Given the description of an element on the screen output the (x, y) to click on. 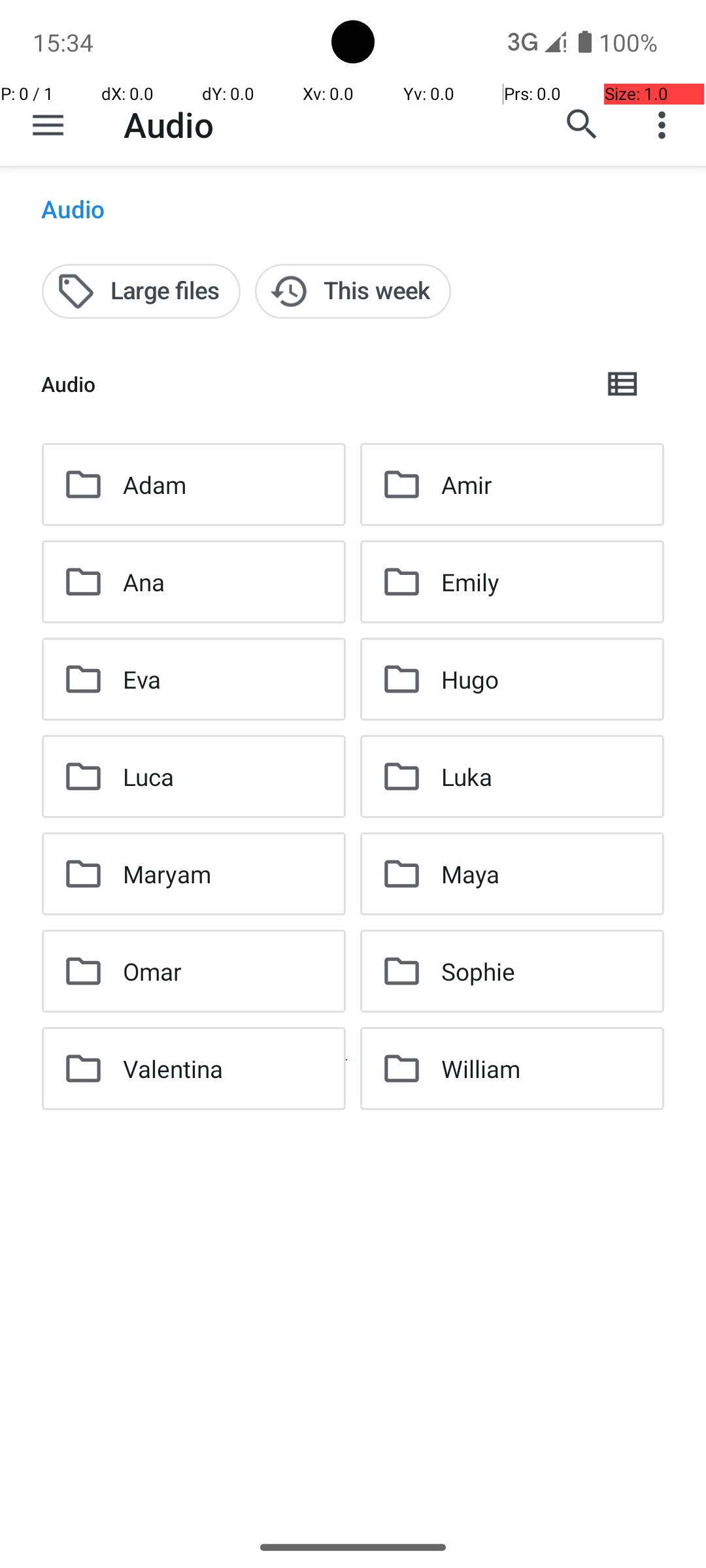
Adam Element type: android.widget.TextView (154, 484)
Amir Element type: android.widget.TextView (466, 484)
Ana Element type: android.widget.TextView (143, 581)
Emily Element type: android.widget.TextView (470, 581)
Eva Element type: android.widget.TextView (141, 678)
Hugo Element type: android.widget.TextView (469, 678)
Luca Element type: android.widget.TextView (148, 776)
Luka Element type: android.widget.TextView (466, 776)
Maryam Element type: android.widget.TextView (166, 873)
Maya Element type: android.widget.TextView (470, 873)
Omar Element type: android.widget.TextView (151, 970)
Sophie Element type: android.widget.TextView (478, 970)
Valentina Element type: android.widget.TextView (172, 1068)
William Element type: android.widget.TextView (480, 1068)
